Given the description of an element on the screen output the (x, y) to click on. 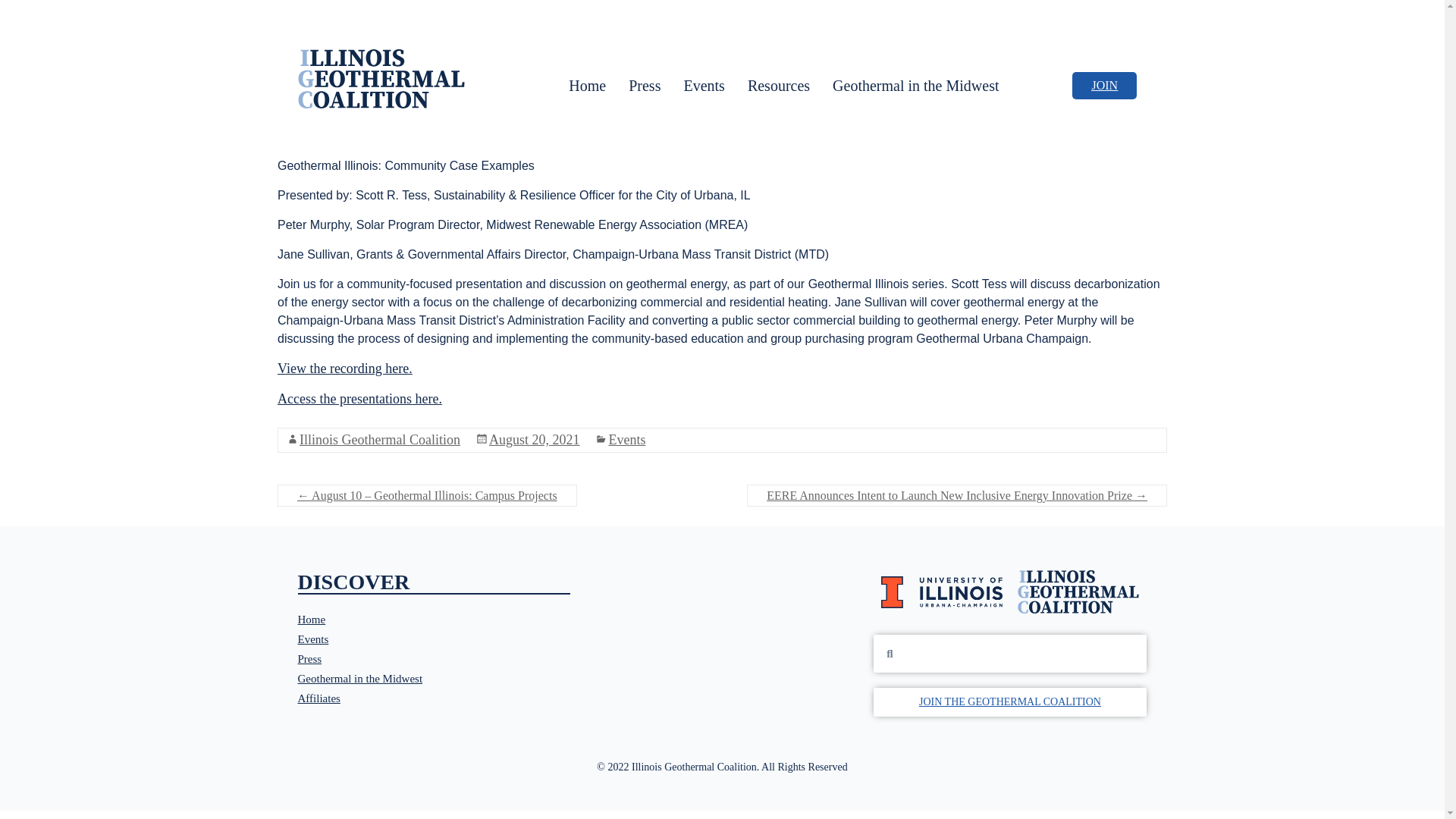
Press (433, 659)
Illinois Geothermal Coalition (379, 439)
Home (587, 85)
Geothermal in the Midwest (915, 85)
August 20, 2021 (534, 439)
Press (644, 85)
Affiliates (433, 698)
Home (433, 619)
9:51 pm (534, 439)
Access the presentations here. (360, 398)
Resources (778, 85)
Events (702, 85)
Events (626, 439)
View the recording here. (345, 368)
Geothermal in the Midwest (433, 678)
